Given the description of an element on the screen output the (x, y) to click on. 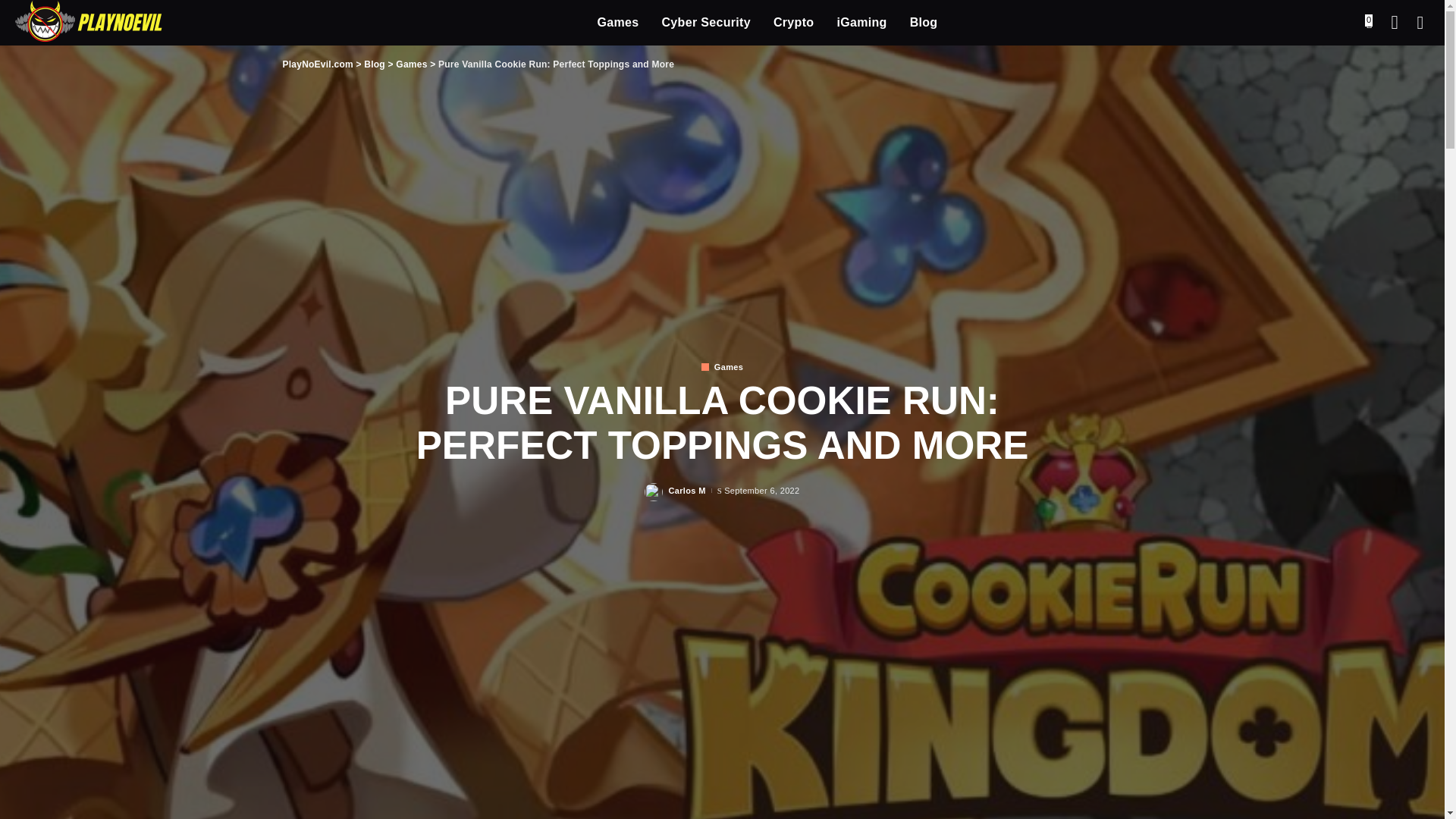
PlayNoEvil.com (87, 22)
Go to the Games Category archives. (411, 63)
Cyber Security (705, 22)
Go to PlayNoEvil.com. (317, 63)
Go to Blog. (374, 63)
Crypto (793, 22)
Games (618, 22)
iGaming (861, 22)
